Given the description of an element on the screen output the (x, y) to click on. 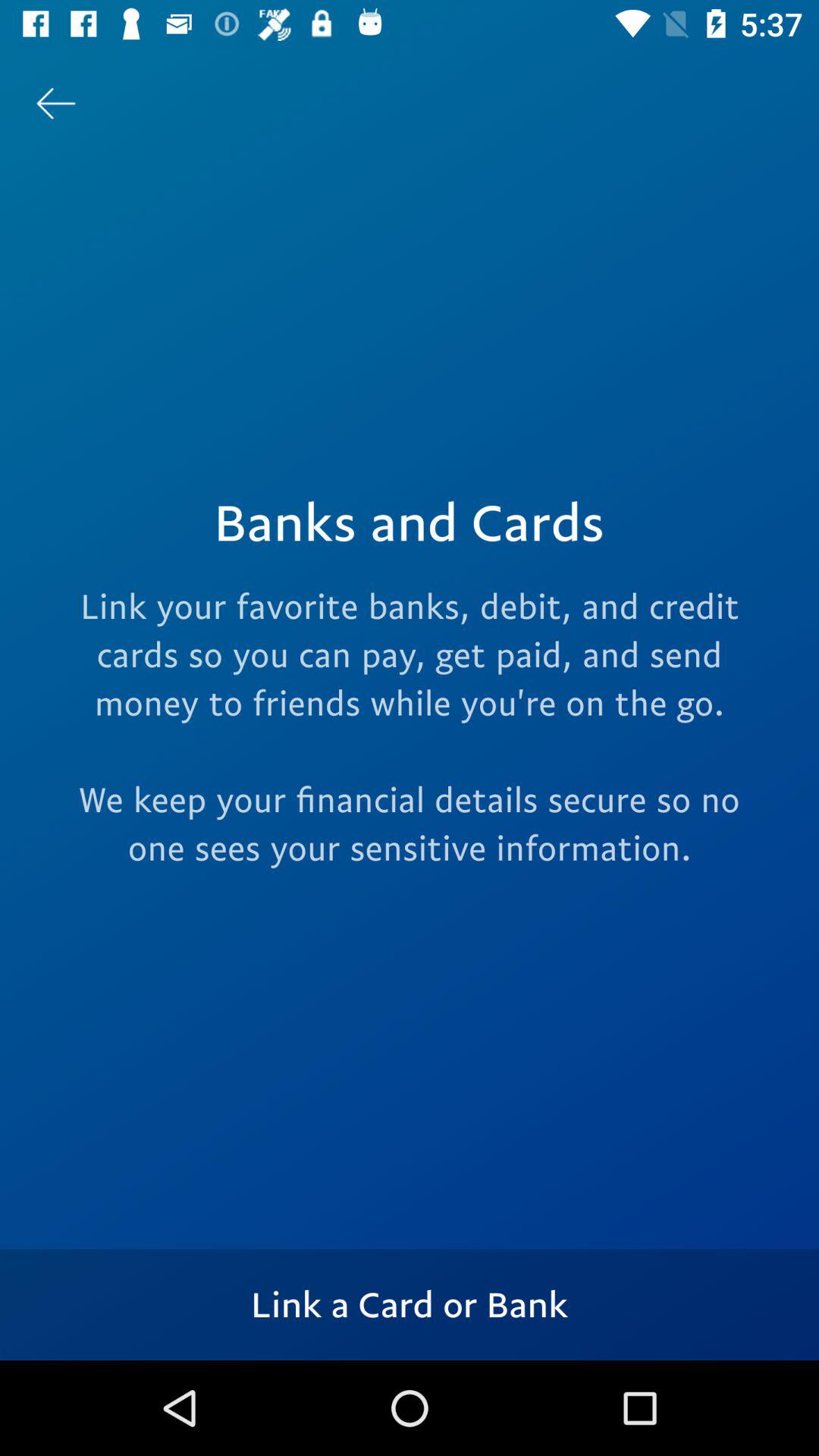
swipe to link a card icon (409, 1304)
